Given the description of an element on the screen output the (x, y) to click on. 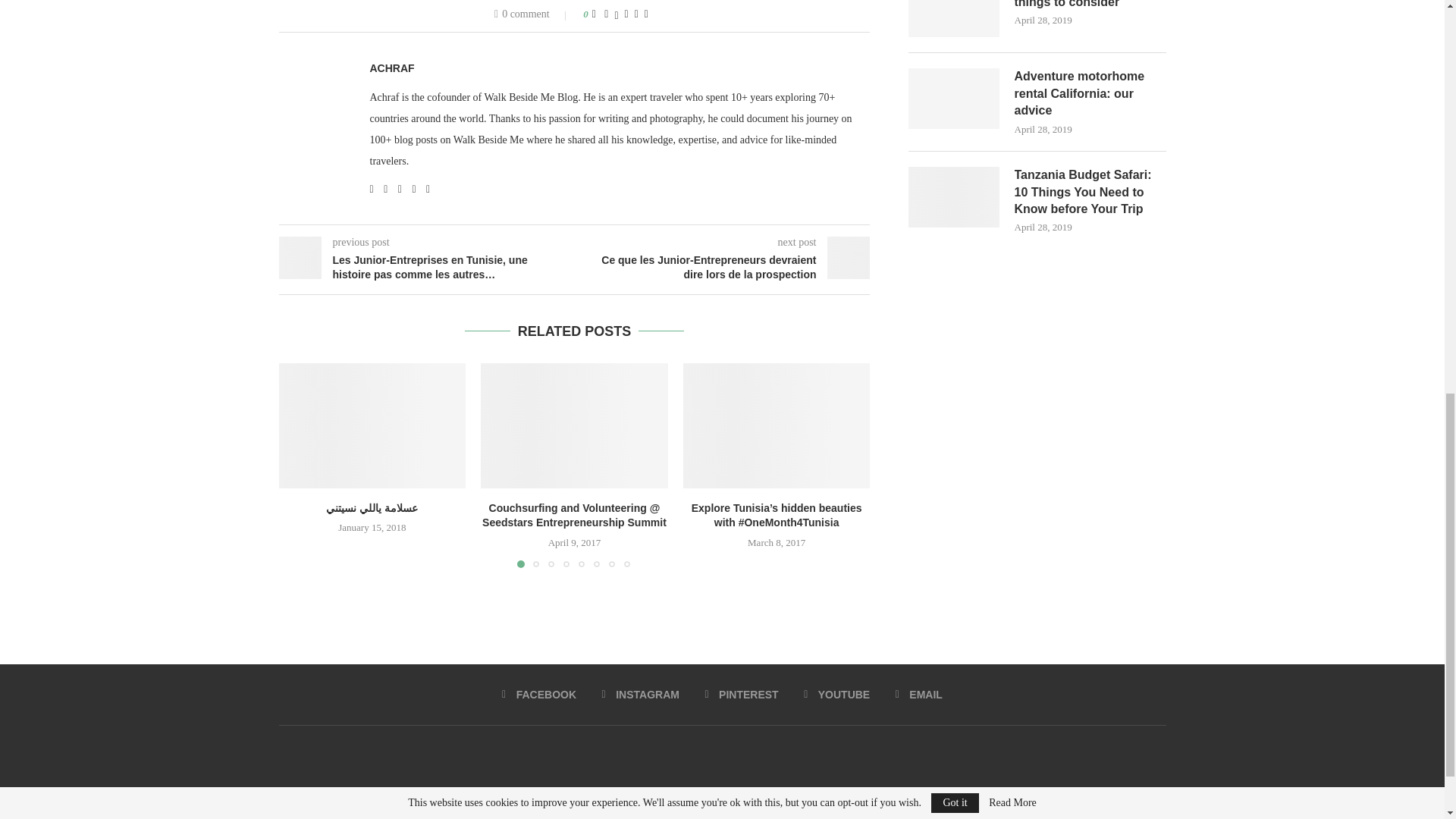
Author Achraf (391, 68)
ACHRAF (391, 68)
